Given the description of an element on the screen output the (x, y) to click on. 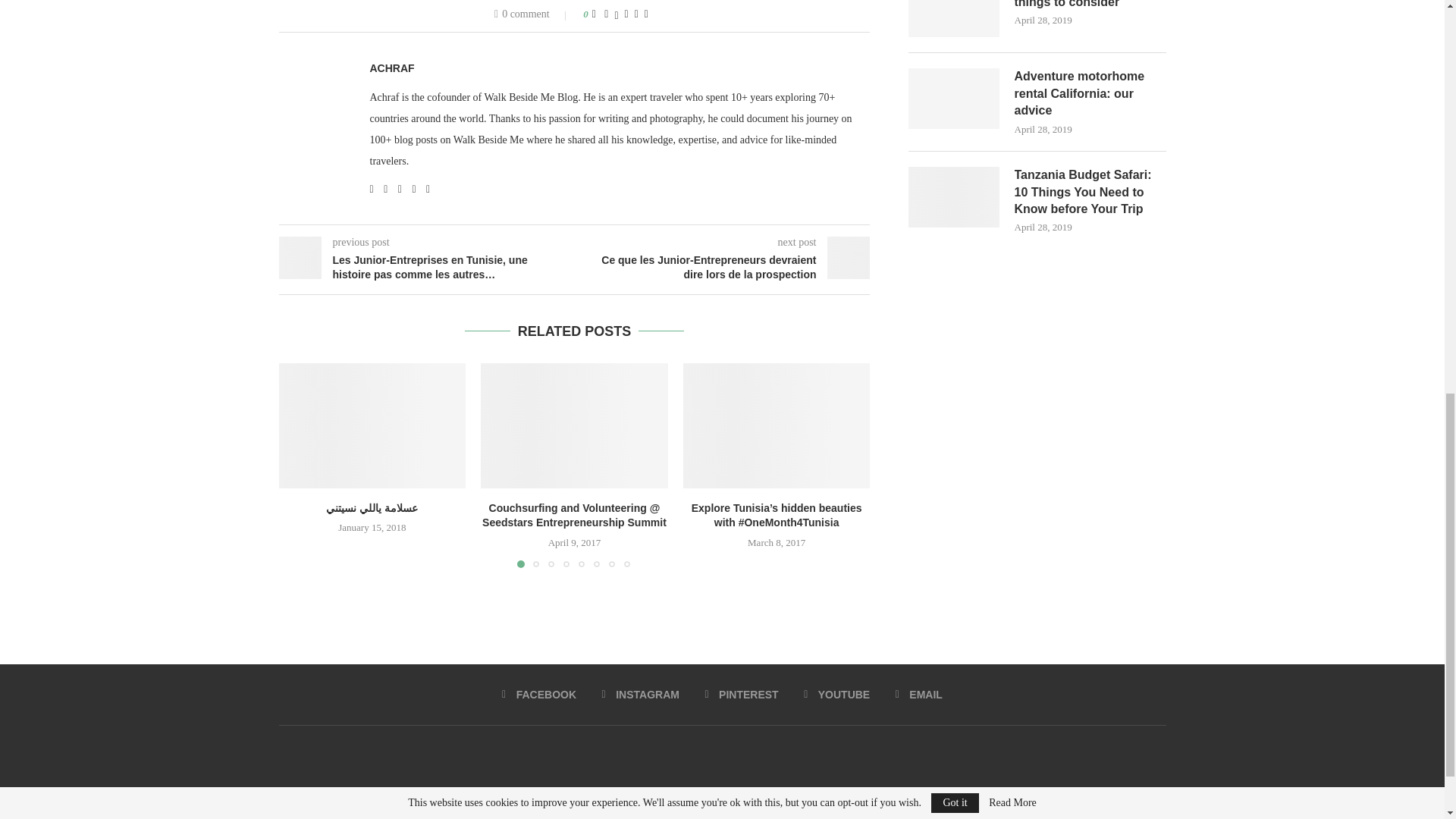
Author Achraf (391, 68)
ACHRAF (391, 68)
